Given the description of an element on the screen output the (x, y) to click on. 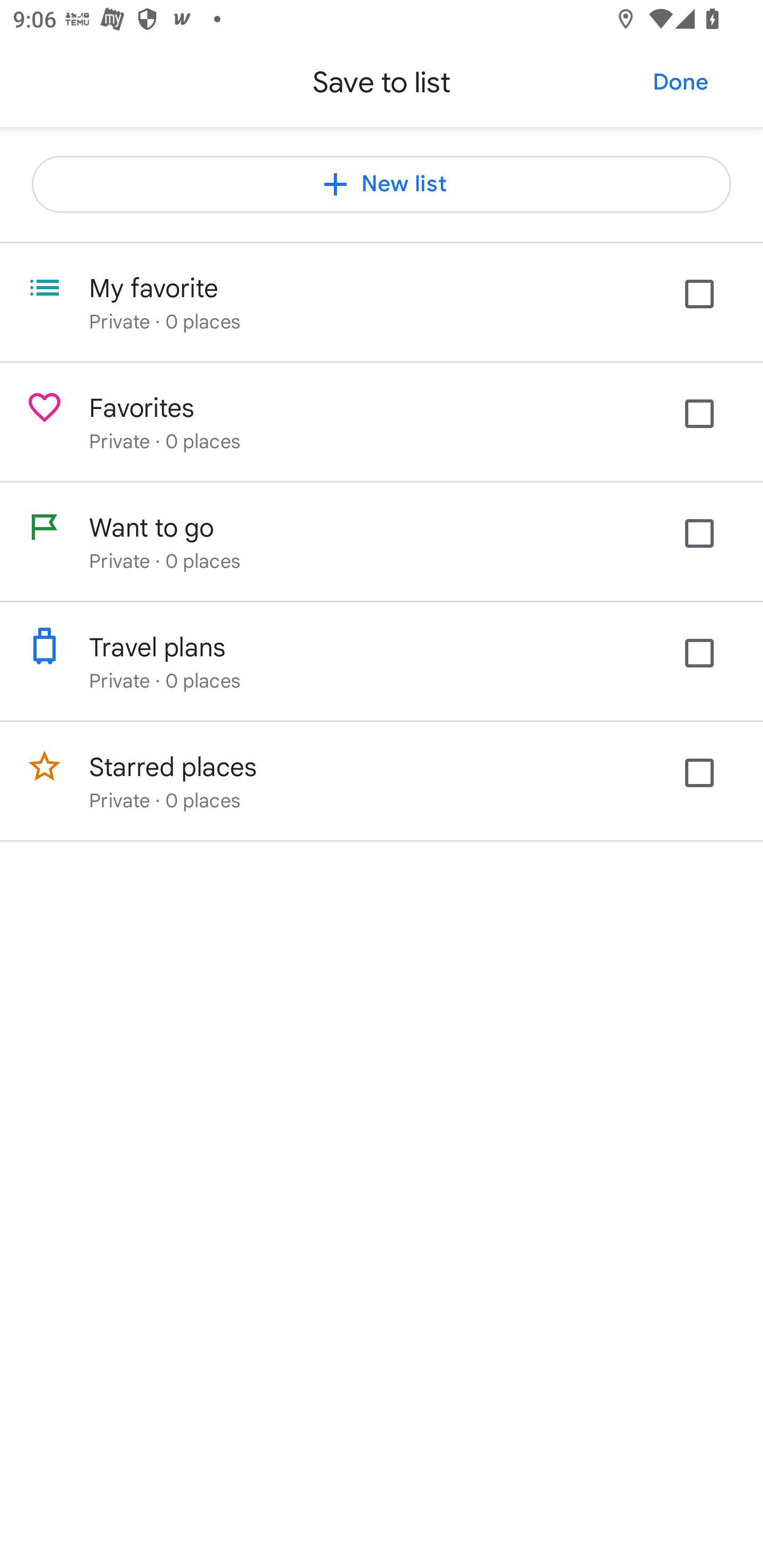
Done (680, 81)
New list (381, 183)
